Given the description of an element on the screen output the (x, y) to click on. 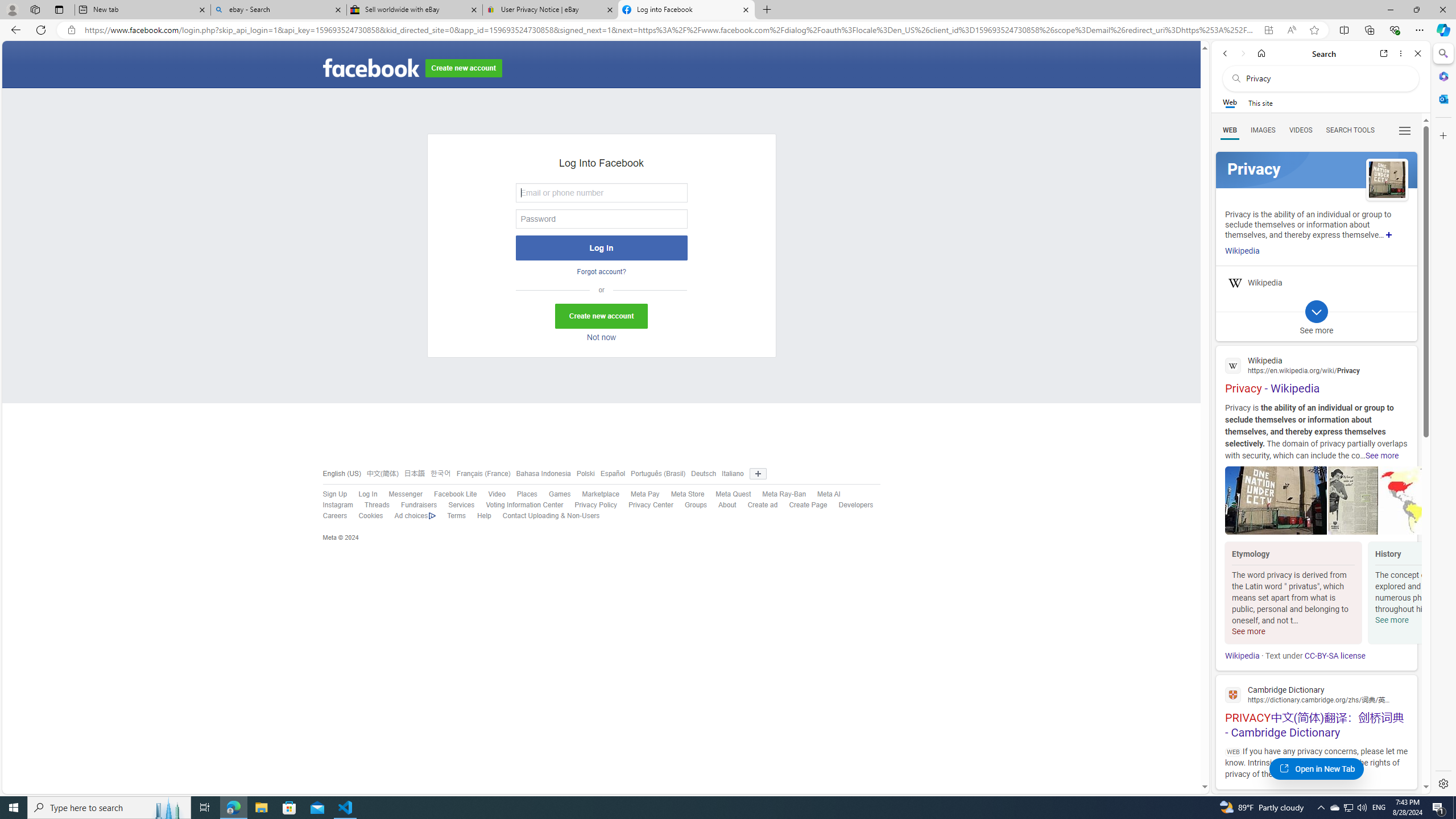
Forgot account? (601, 271)
CC-BY-SA license (1334, 655)
Terms (455, 515)
Privacy Policy (596, 505)
Privacy Center (650, 505)
Facebook Lite (449, 494)
Privacy - Wikipedia (1315, 373)
Outlook (1442, 98)
Italiano (730, 473)
Deutsch (700, 473)
Preferences (1403, 129)
Places (526, 493)
Customize (1442, 135)
